Given the description of an element on the screen output the (x, y) to click on. 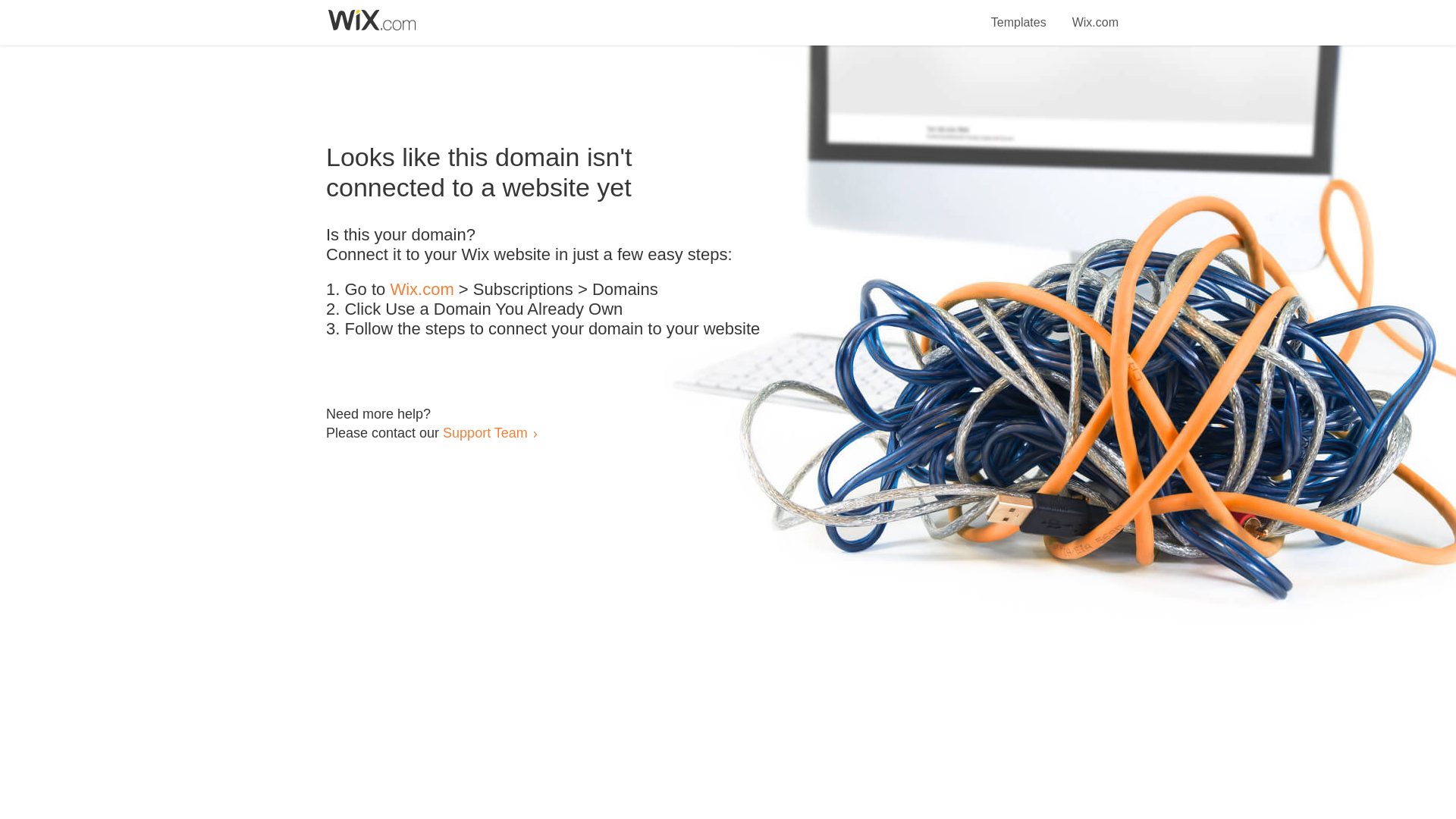
Wix.com (421, 289)
Support Team (484, 432)
Wix.com (1095, 14)
Templates (1018, 14)
